Given the description of an element on the screen output the (x, y) to click on. 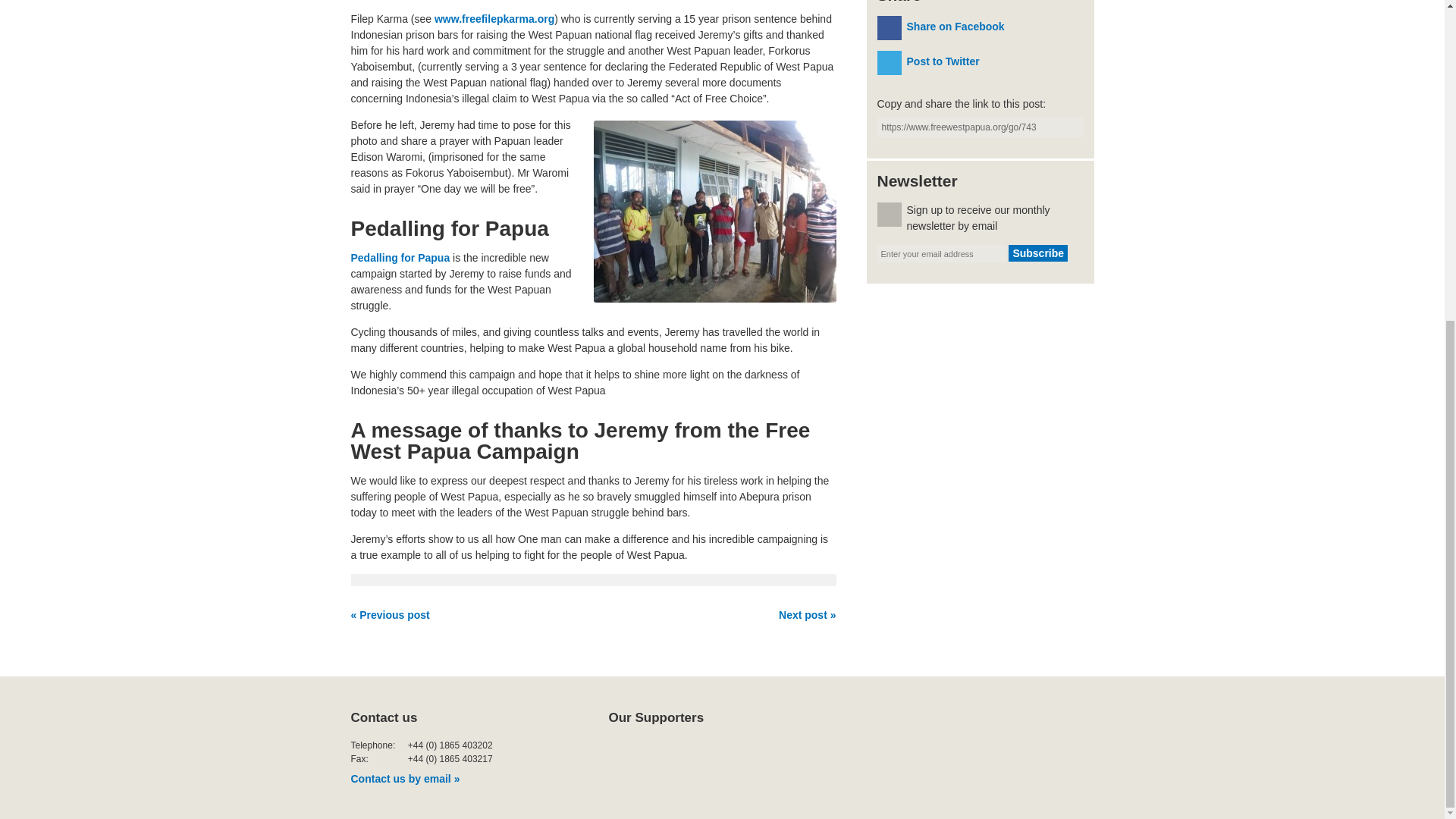
Lush (734, 757)
www.freefilepkarma.org (493, 19)
The Bertha Foundation (644, 757)
Visit the Kava King Products website (948, 757)
Subscribe (1038, 252)
Pedalling for Papua (399, 257)
Visit The Bertha Foundation website (644, 757)
Court Lodge Organics (841, 757)
Visit the Court Lodge Organics website (841, 757)
Subscribe (1038, 252)
